Given the description of an element on the screen output the (x, y) to click on. 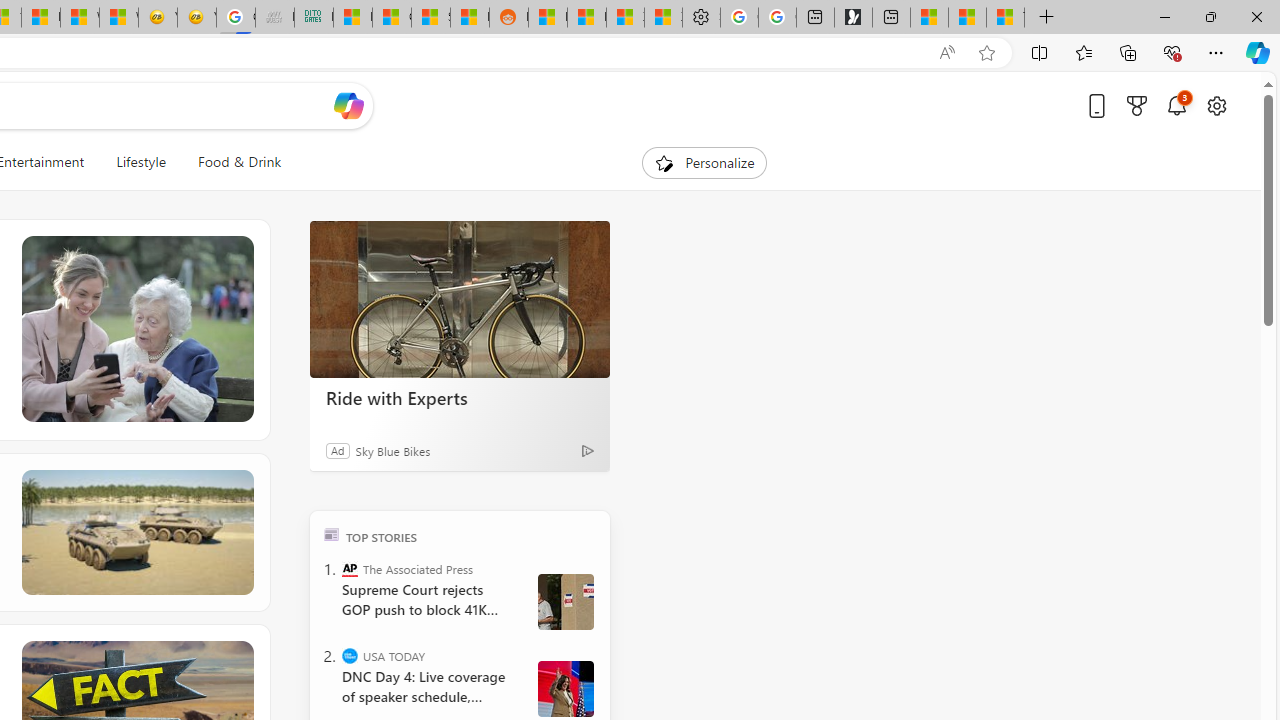
Fitness - MSN (40, 17)
